Given the description of an element on the screen output the (x, y) to click on. 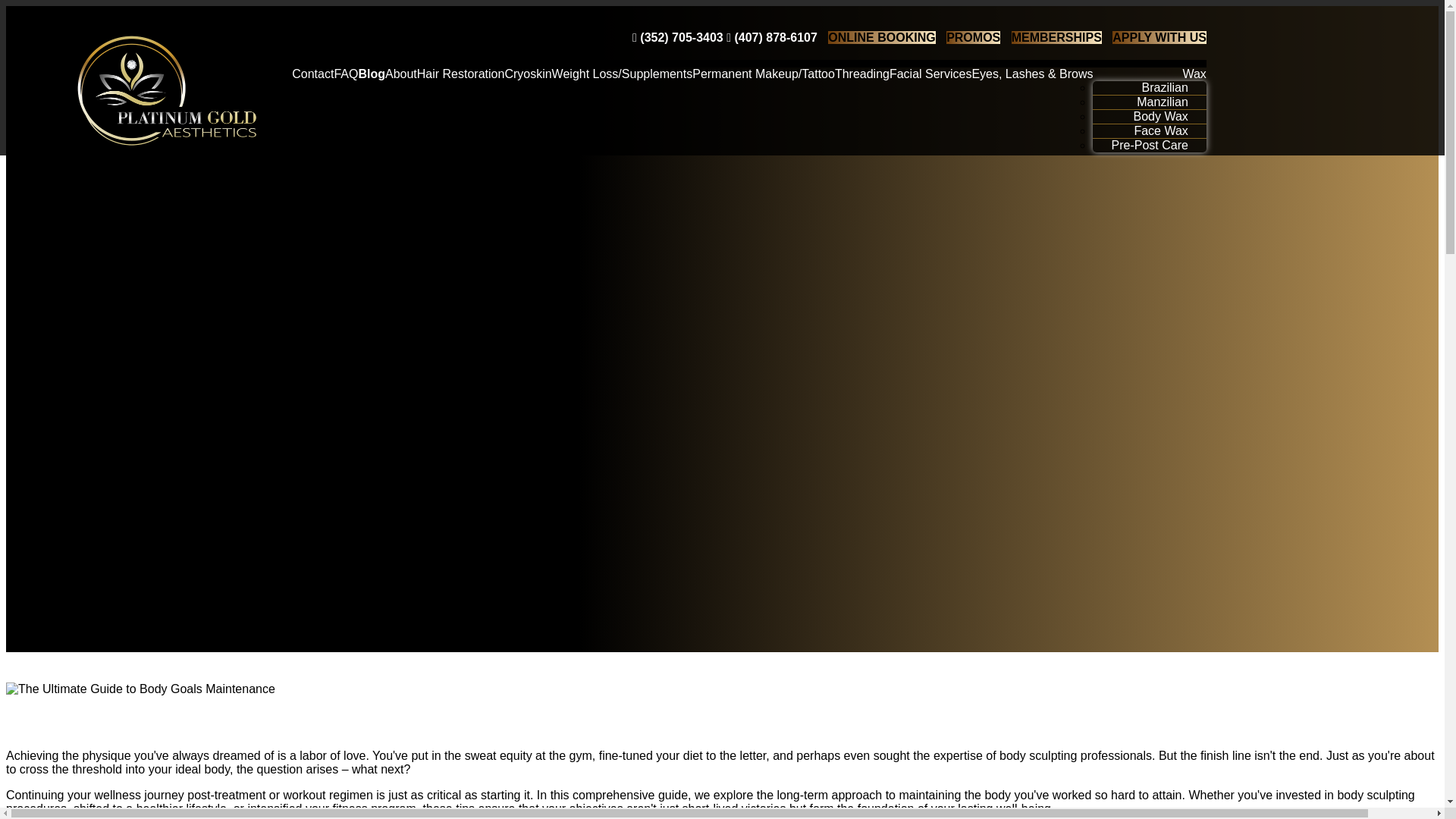
Pre-Post Care (1149, 144)
Hair Restoration (460, 73)
Cryoskin (527, 73)
Brazilian (1165, 87)
Brazilian (1165, 87)
Contact (312, 73)
Threading (861, 73)
Face Wax (1160, 130)
Pre-Post Care (1149, 144)
About (400, 73)
